Given the description of an element on the screen output the (x, y) to click on. 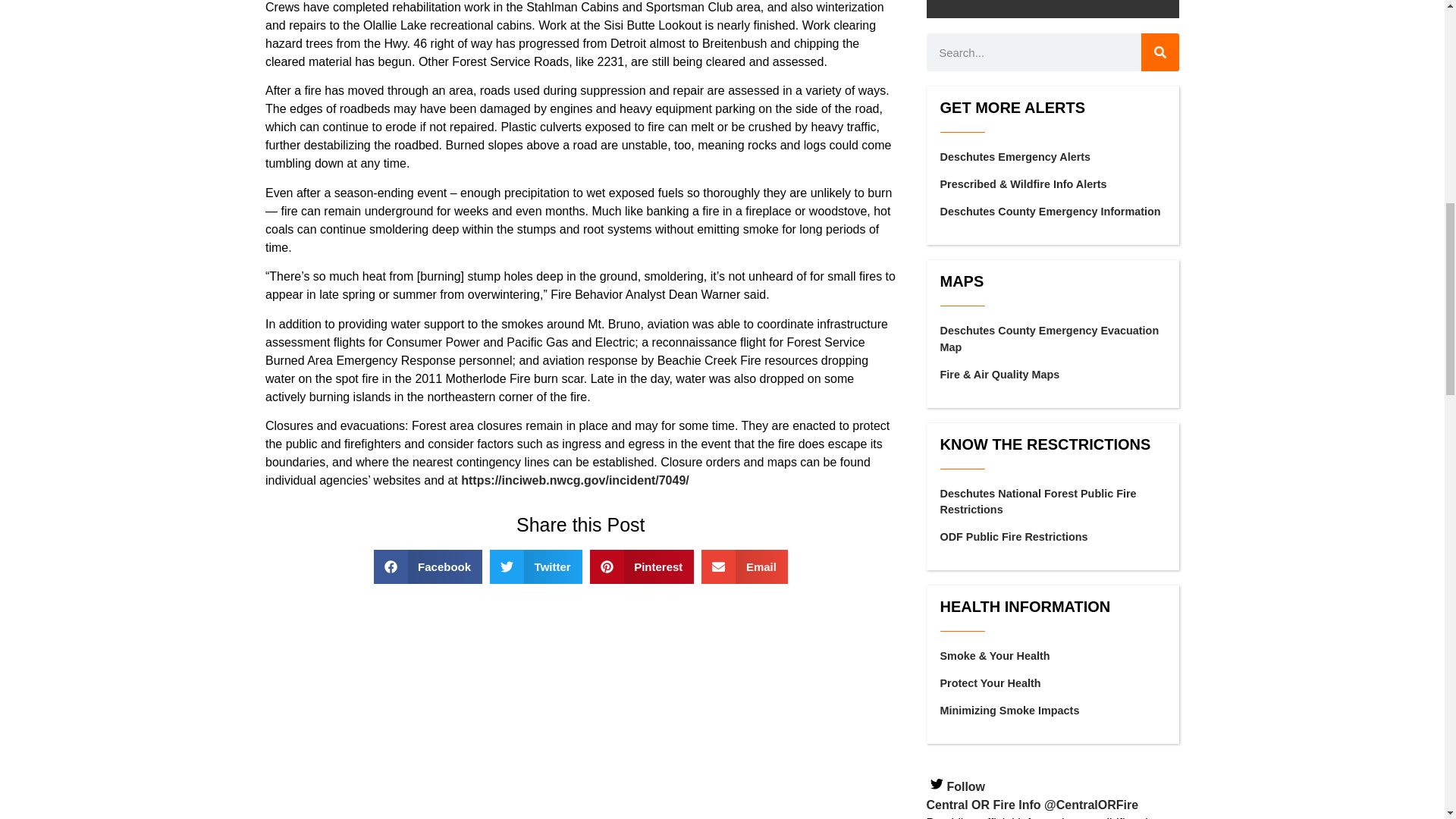
Deschutes County Emergency Information (1050, 211)
Deschutes Emergency Alerts (1015, 156)
Protect Your Health (990, 683)
Deschutes County Emergency Evacuation Map (1049, 338)
Minimizing Smoke Impacts (1010, 710)
ODF Public Fire Restrictions (1013, 536)
Deschutes National Forest Public Fire Restrictions (1038, 501)
